Given the description of an element on the screen output the (x, y) to click on. 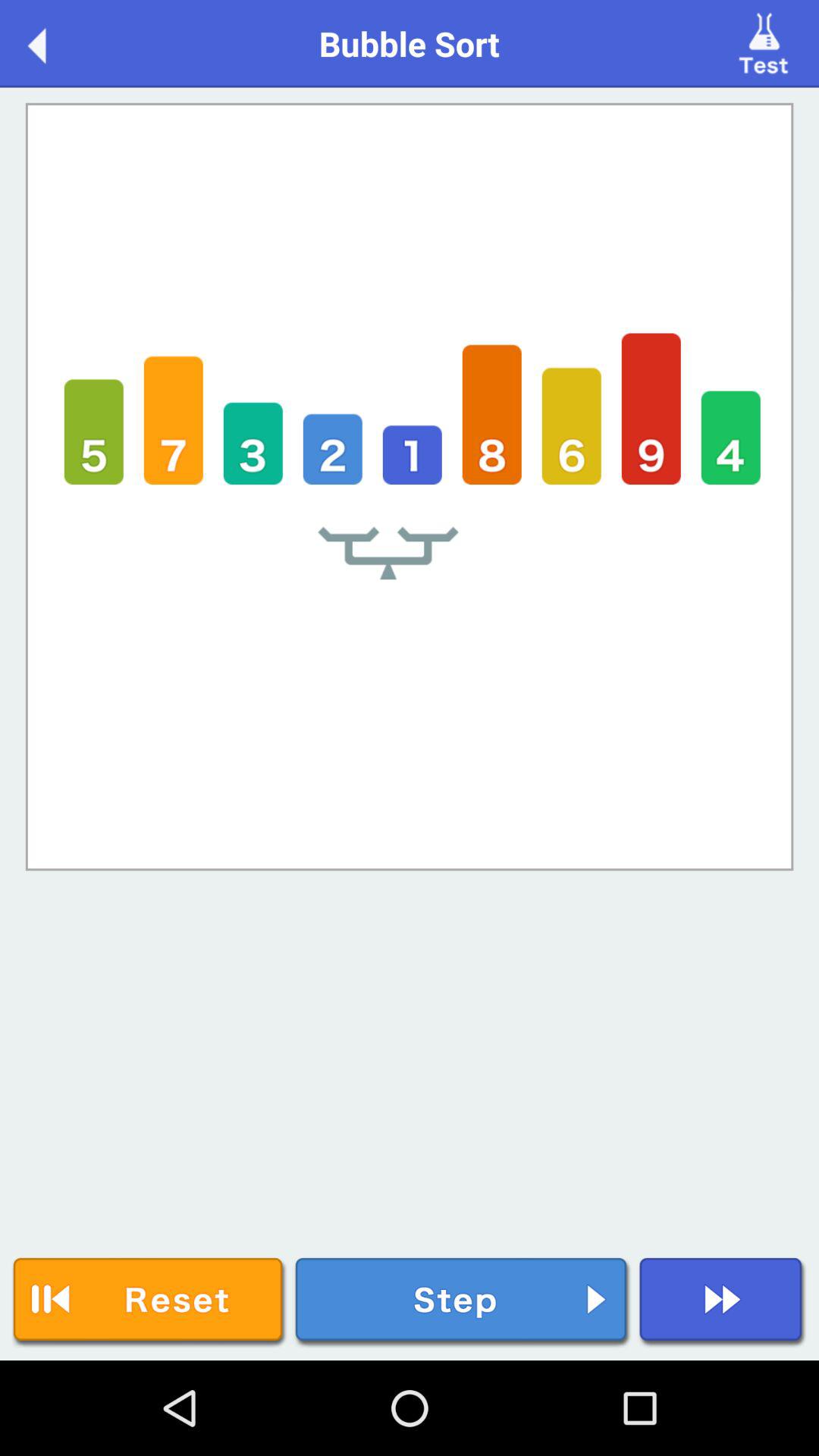
step button (462, 1302)
